Given the description of an element on the screen output the (x, y) to click on. 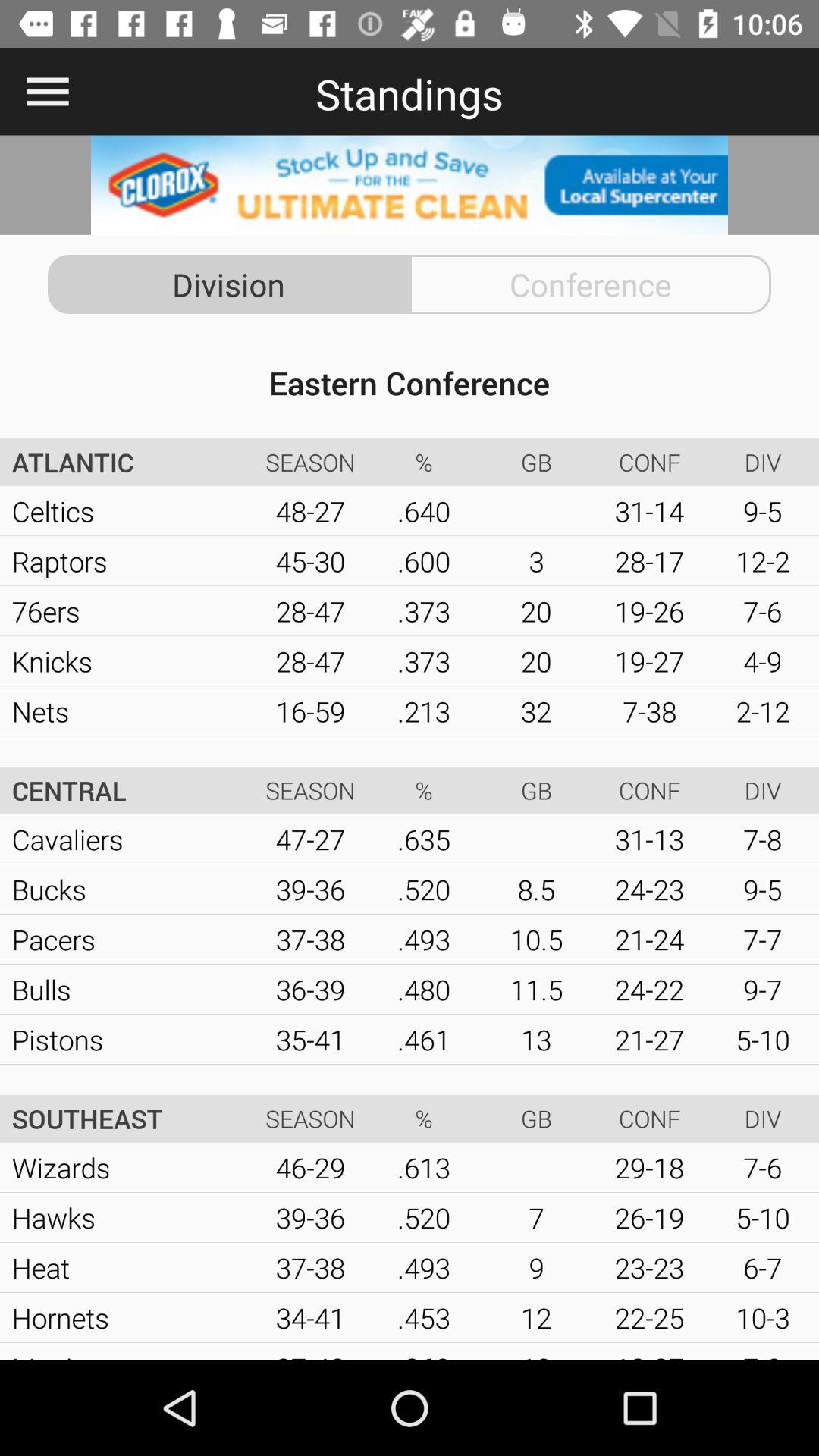
go to advertisement page on store (409, 184)
